Given the description of an element on the screen output the (x, y) to click on. 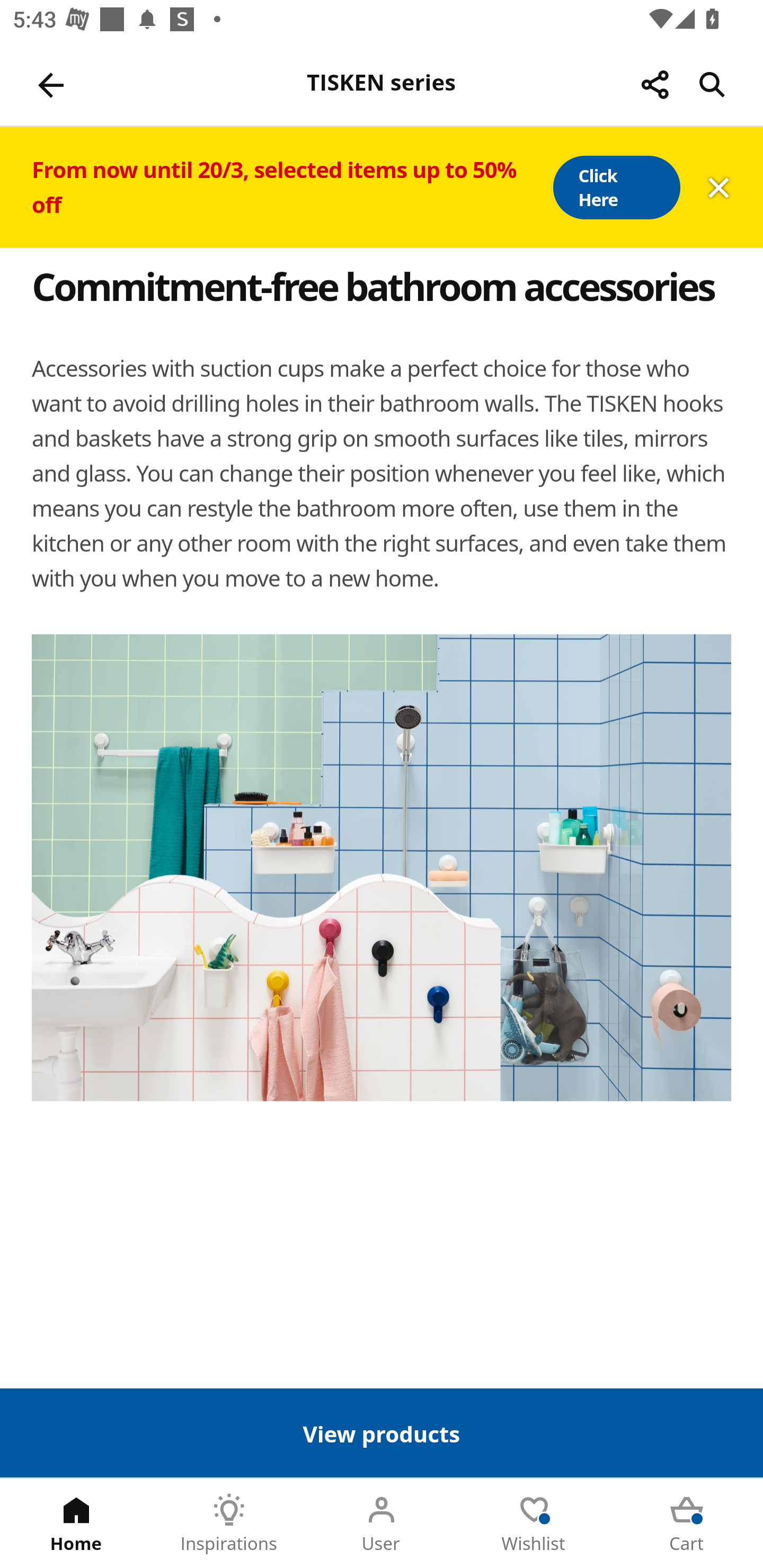
Click Here (615, 187)
View products (381, 1432)
Home
Tab 1 of 5 (76, 1522)
Inspirations
Tab 2 of 5 (228, 1522)
User
Tab 3 of 5 (381, 1522)
Wishlist
Tab 4 of 5 (533, 1522)
Cart
Tab 5 of 5 (686, 1522)
